Given the description of an element on the screen output the (x, y) to click on. 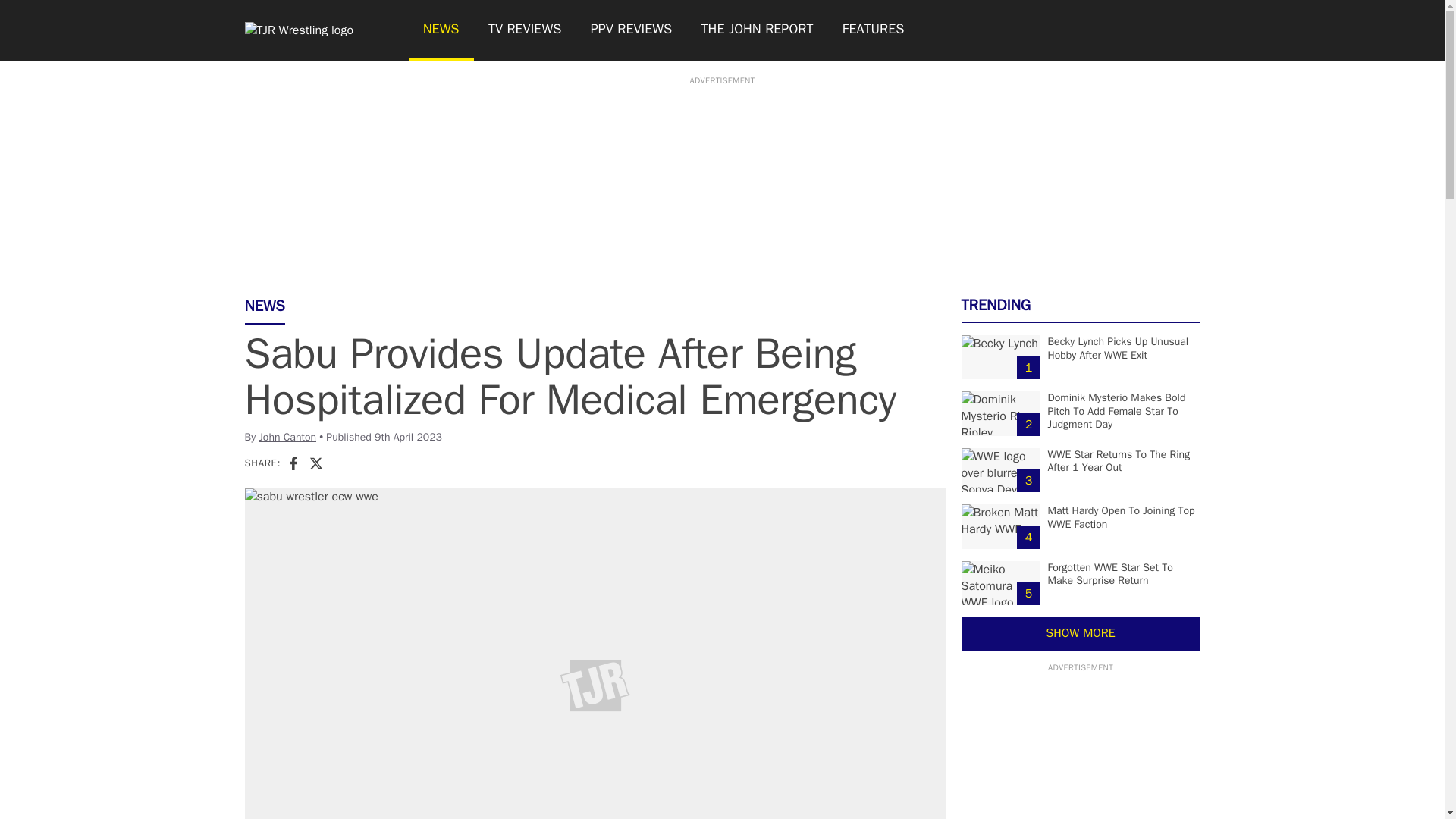
PPV REVIEWS (631, 30)
X (315, 462)
TV REVIEWS (525, 30)
John Canton (287, 436)
Facebook (292, 463)
THE JOHN REPORT (756, 30)
X (315, 463)
Facebook (292, 462)
NEWS (440, 30)
FEATURES (873, 30)
